Given the description of an element on the screen output the (x, y) to click on. 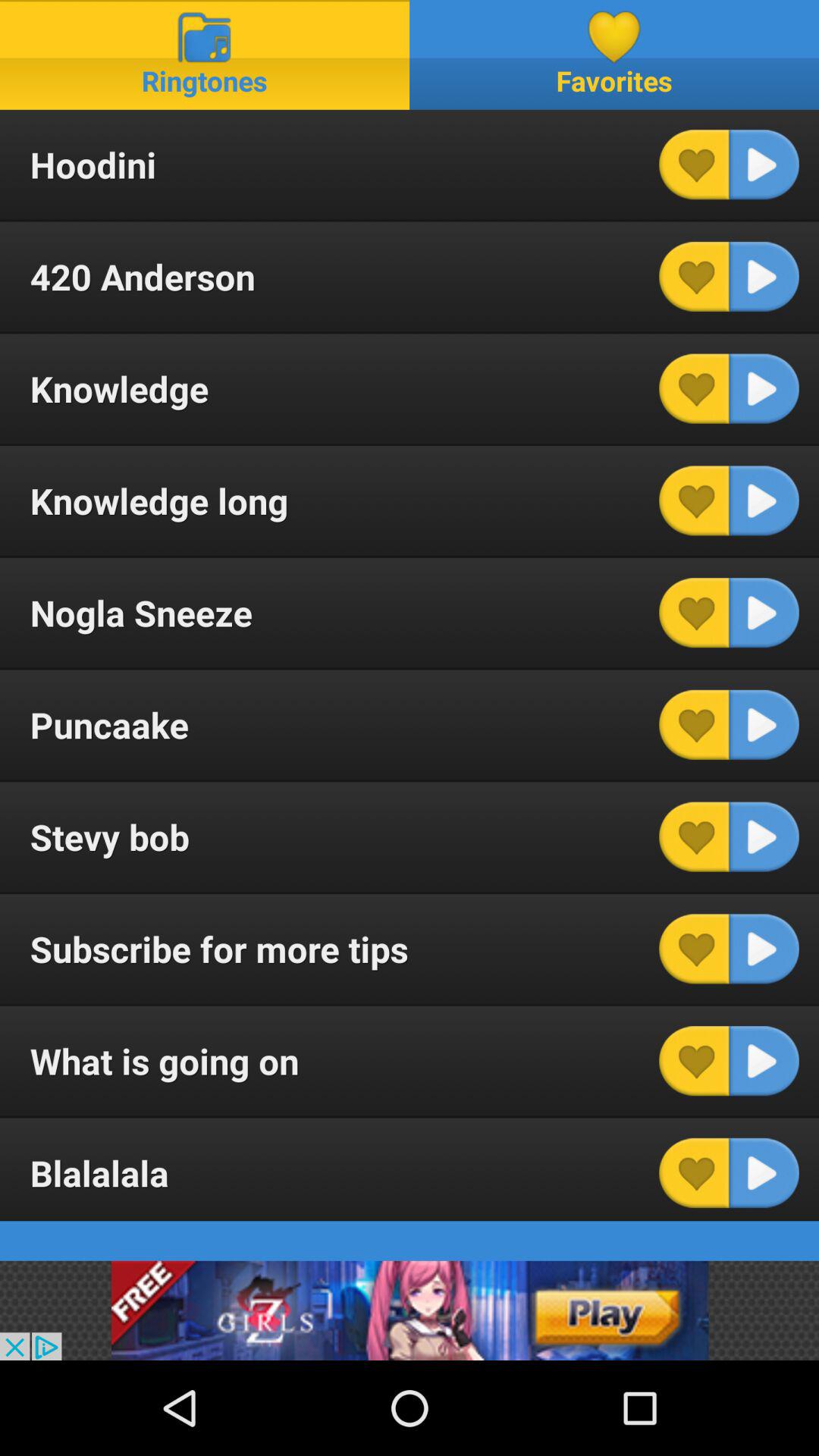
to play the blalala music (764, 1173)
